Given the description of an element on the screen output the (x, y) to click on. 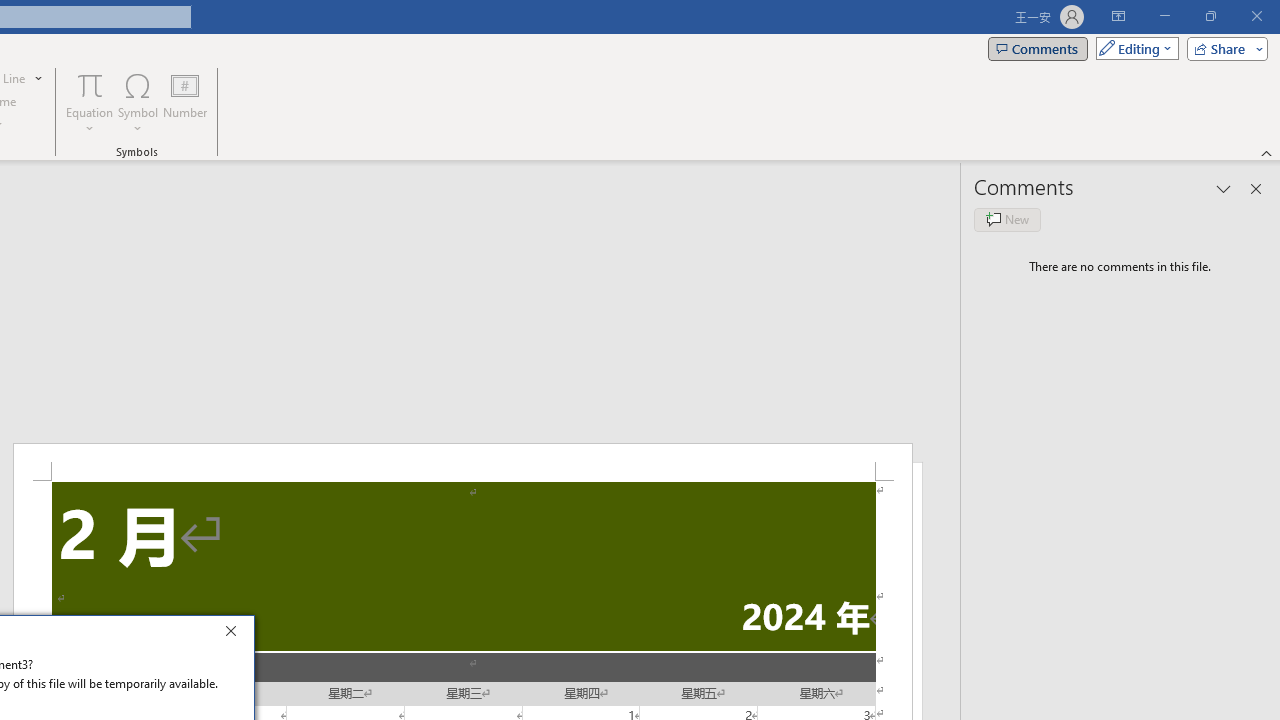
Number... (185, 102)
